Given the description of an element on the screen output the (x, y) to click on. 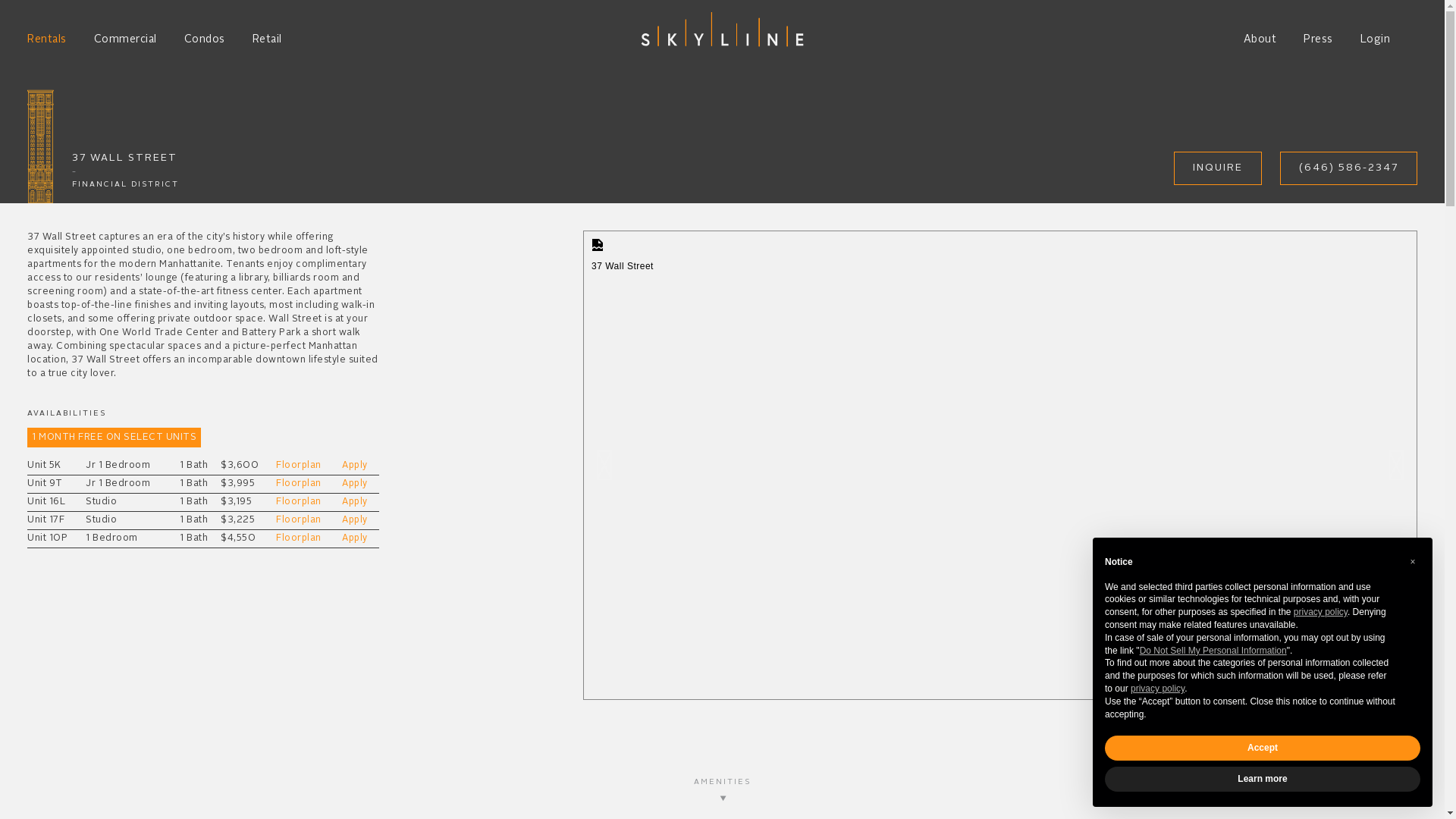
Condos Element type: text (203, 39)
INQUIRE Element type: text (1217, 168)
Apply Element type: text (354, 537)
Login Element type: text (1375, 39)
Floorplan Element type: text (298, 519)
Rentals Element type: text (46, 39)
Retail Element type: text (266, 39)
Learn more Element type: text (1262, 778)
Floorplan Element type: text (298, 537)
Floorplan Element type: text (298, 483)
Floorplan Element type: text (298, 465)
About Element type: text (1260, 39)
Apply Element type: text (354, 483)
privacy policy Element type: text (1157, 688)
Accept Element type: text (1262, 747)
Apply Element type: text (354, 501)
Commercial Element type: text (125, 39)
Apply Element type: text (354, 519)
Apply Element type: text (354, 465)
(646) 586-2347 Element type: text (1348, 168)
privacy policy Element type: text (1320, 611)
Floorplan Element type: text (298, 501)
Press Element type: text (1318, 39)
Do Not Sell My Personal Information Element type: text (1212, 650)
